Given the description of an element on the screen output the (x, y) to click on. 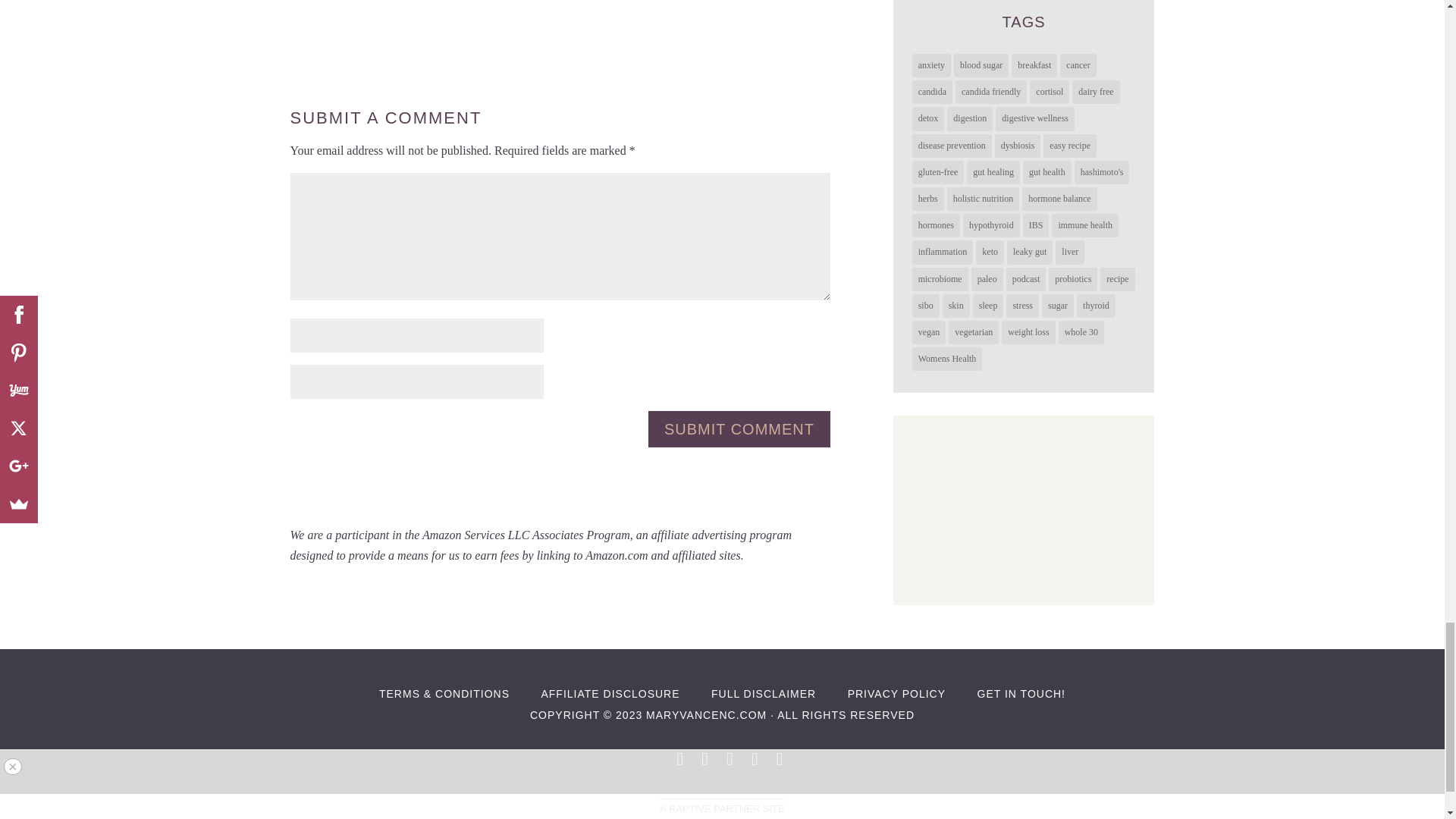
Submit Comment (738, 429)
Submit Comment (738, 429)
